Given the description of an element on the screen output the (x, y) to click on. 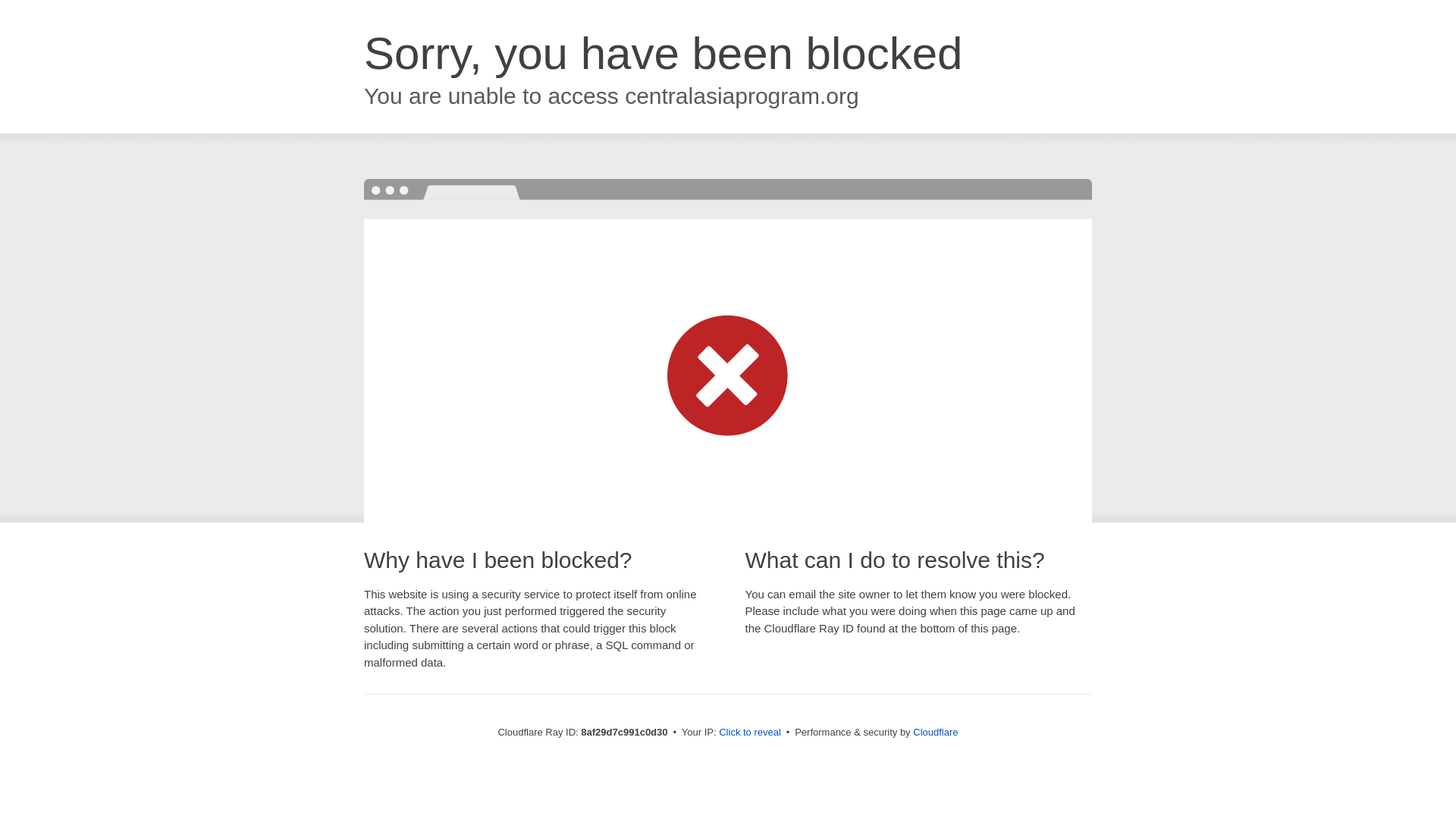
Cloudflare (935, 731)
Click to reveal (749, 732)
